Given the description of an element on the screen output the (x, y) to click on. 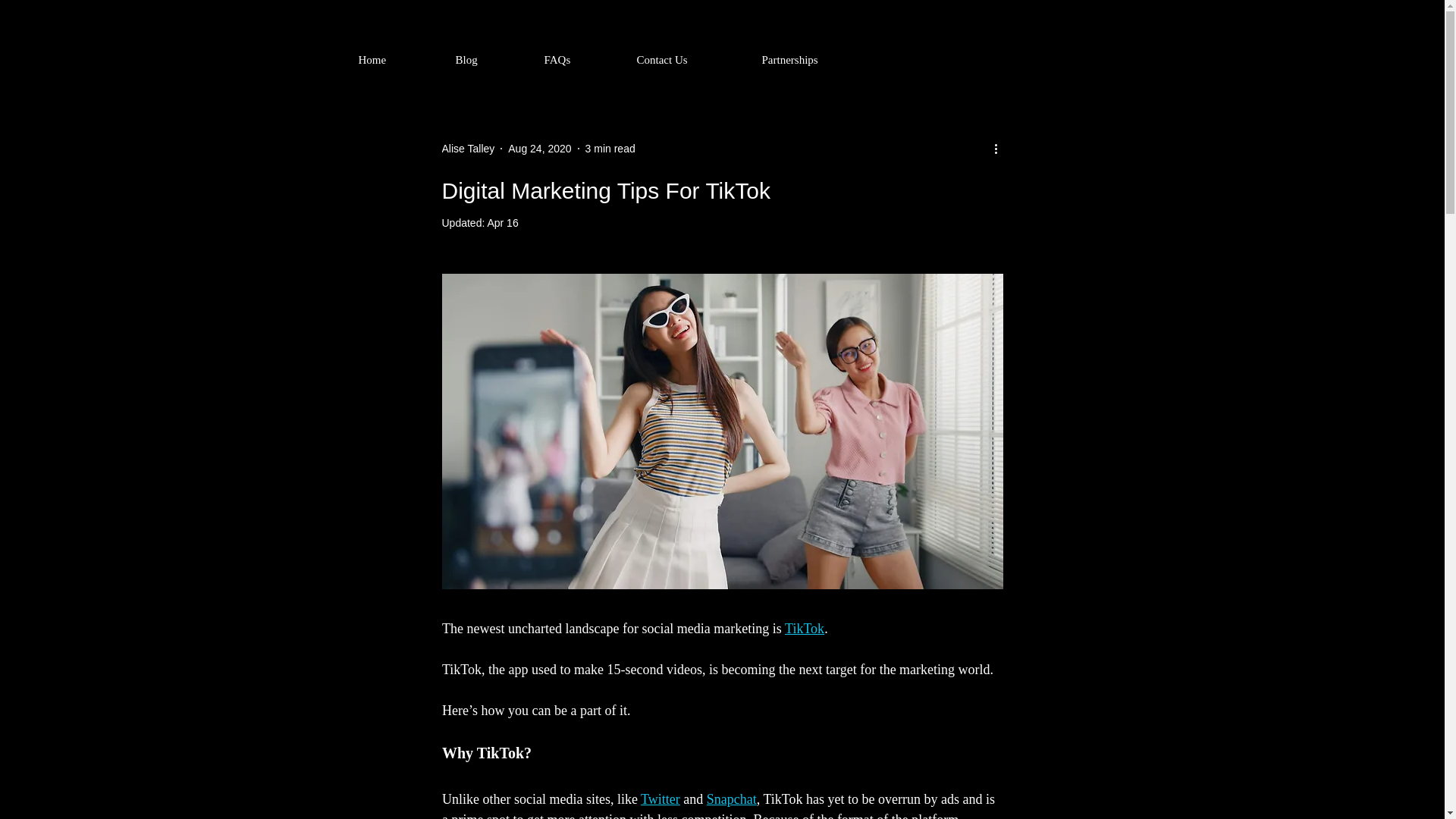
Contact Us (691, 59)
TikTok (804, 628)
Blog (490, 59)
Alise Talley (468, 148)
Aug 24, 2020 (539, 148)
FAQs (582, 59)
Twitter (659, 798)
Apr 16 (502, 223)
Home (398, 59)
Partnerships (820, 59)
3 min read (609, 148)
Snapchat (730, 798)
